Given the description of an element on the screen output the (x, y) to click on. 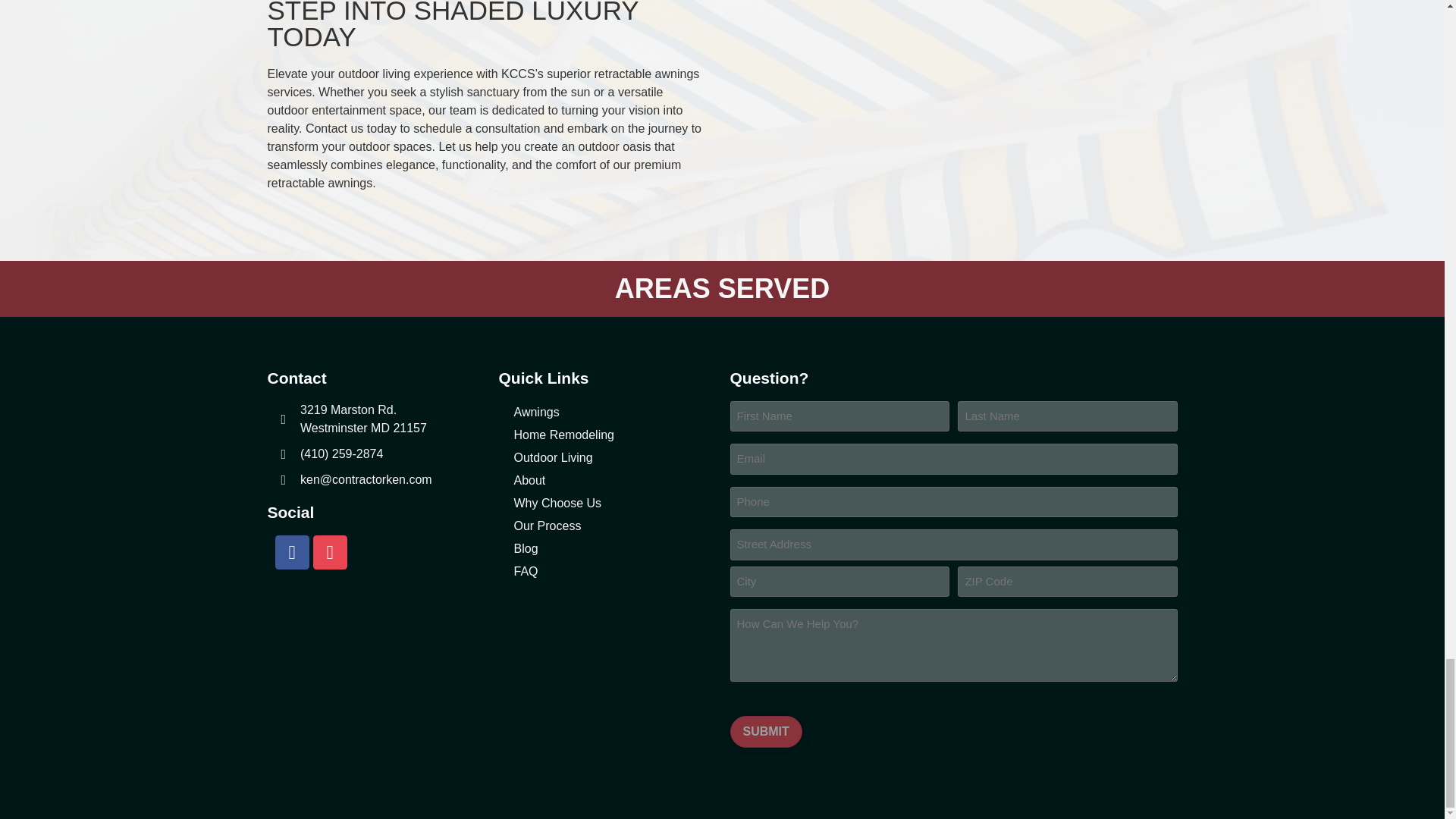
Submit (765, 731)
